Given the description of an element on the screen output the (x, y) to click on. 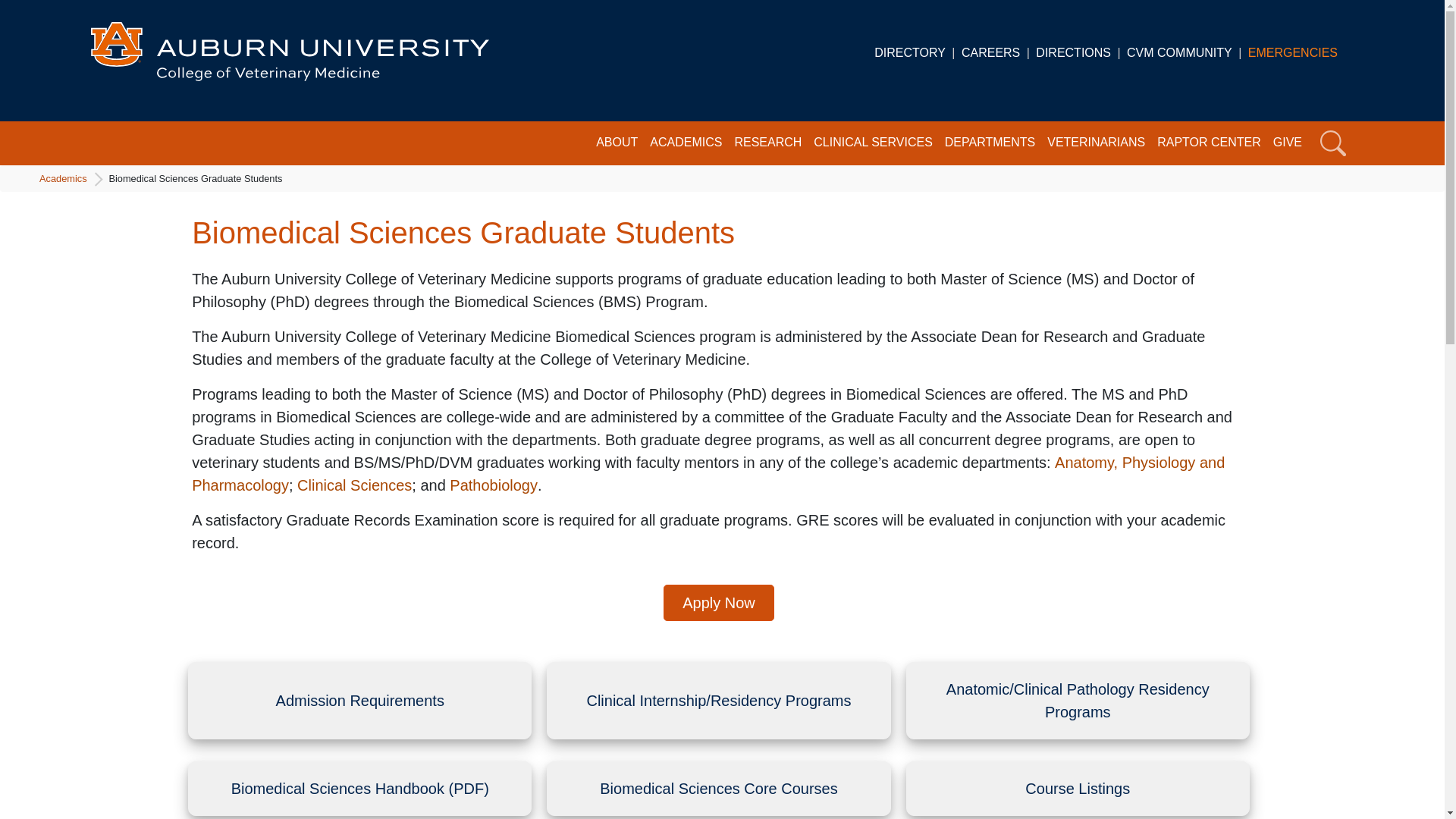
Admission Requirements (360, 700)
DIRECTIONS (1072, 51)
VETERINARIANS (1095, 143)
EMERGENCIES (1292, 51)
GIVE (1286, 143)
CAREERS (990, 51)
Apply Now (718, 602)
Search (1332, 143)
CLINICAL SERVICES (873, 143)
Clinical Sciences (354, 484)
Academics (67, 178)
ABOUT (616, 143)
DIRECTORY (909, 51)
CVM COMMUNITY (1178, 51)
Biomedical Sciences Core Courses (718, 788)
